Given the description of an element on the screen output the (x, y) to click on. 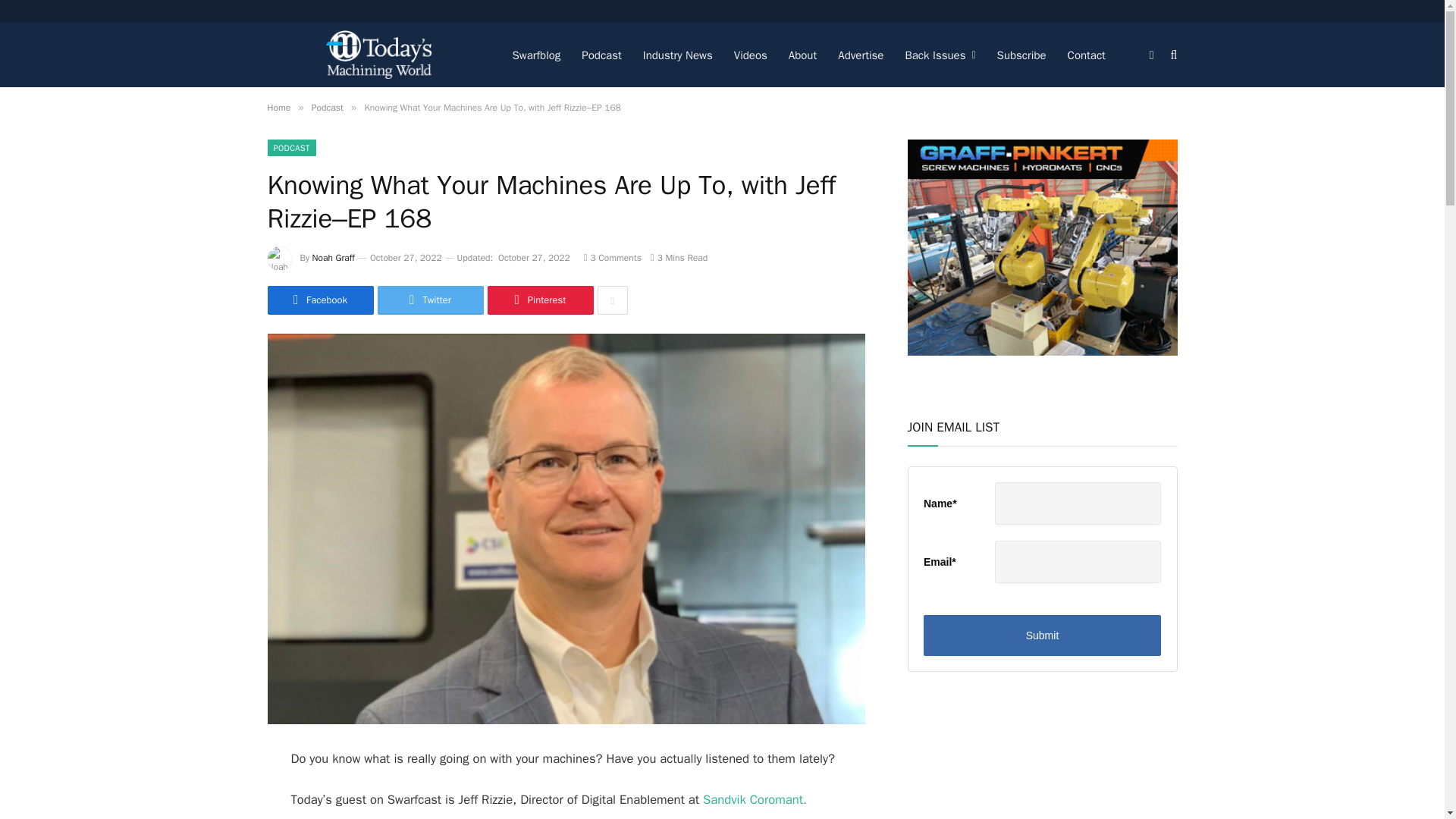
Industry News (677, 54)
Posts by Noah Graff (334, 257)
Swarfblog (537, 54)
Show More Social Sharing (611, 299)
Podcast (327, 107)
Subscribe (1022, 54)
Podcast (600, 54)
Share on Twitter (430, 299)
Advertise (860, 54)
Back Issues (939, 54)
Twitter (430, 299)
Share on Facebook (319, 299)
Switch to Dark Design - easier on eyes. (1151, 54)
Pinterest (539, 299)
PODCAST (290, 147)
